Given the description of an element on the screen output the (x, y) to click on. 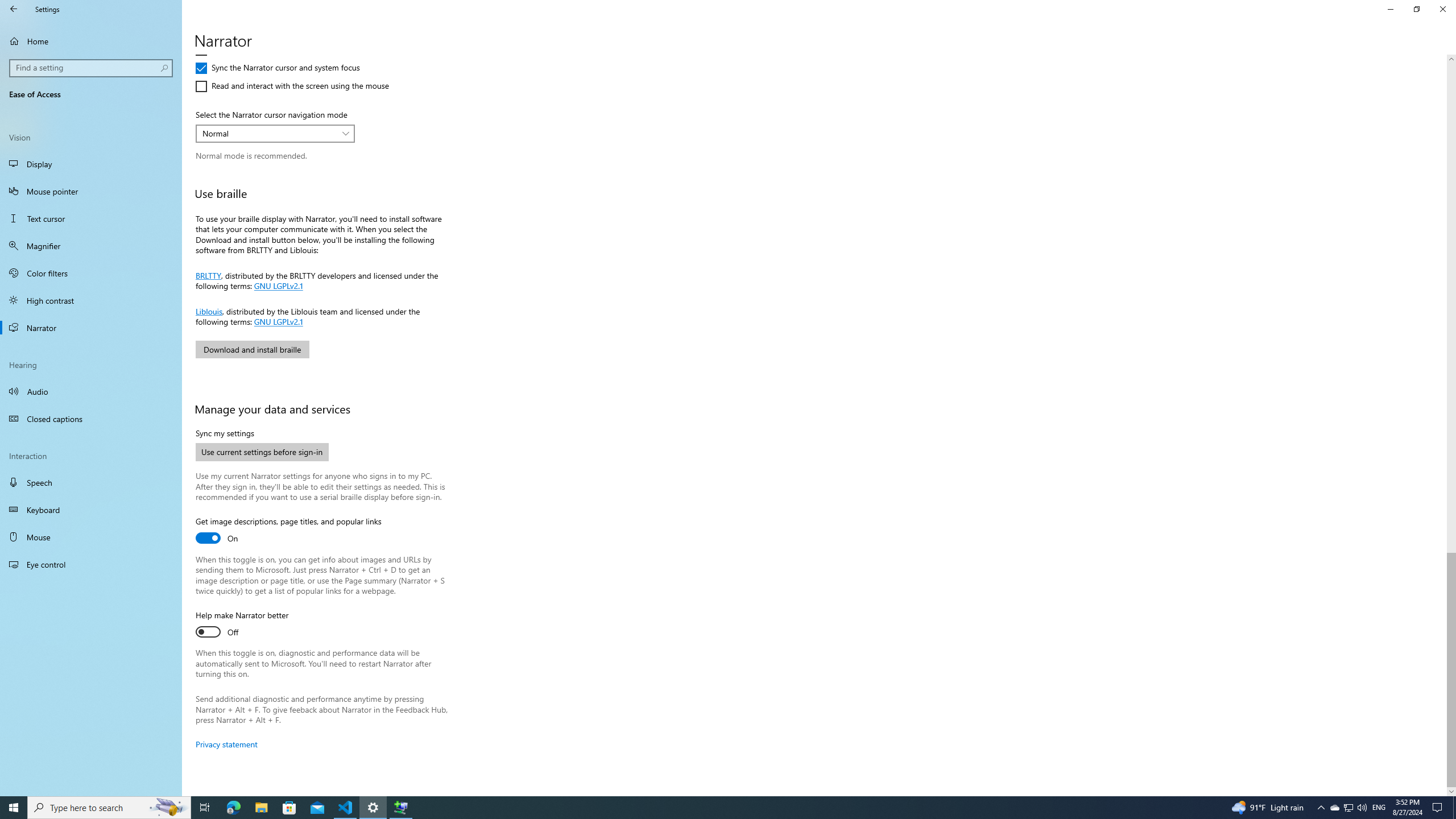
Audio (91, 390)
Help make Narrator better (241, 625)
Display (91, 163)
Select the Narrator cursor navigation mode (275, 133)
Vertical Small Increase (1451, 791)
Download and install braille (251, 349)
